Given the description of an element on the screen output the (x, y) to click on. 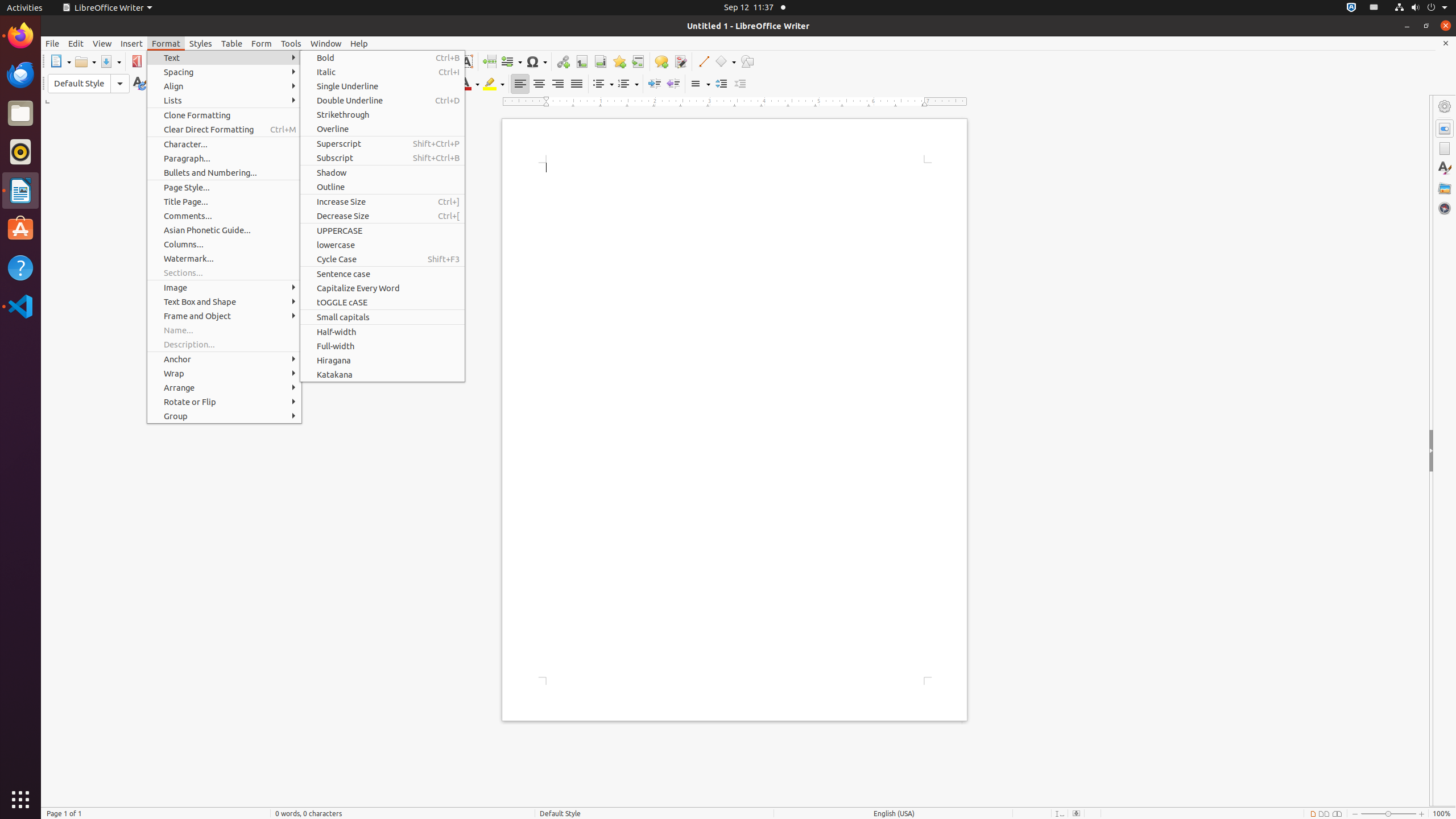
Underline Element type: push-button (357, 83)
Text Box Element type: push-button (465, 61)
Name... Element type: menu-item (224, 330)
Page Break Element type: push-button (489, 61)
Paragraph Style Element type: combo-box (88, 83)
